Given the description of an element on the screen output the (x, y) to click on. 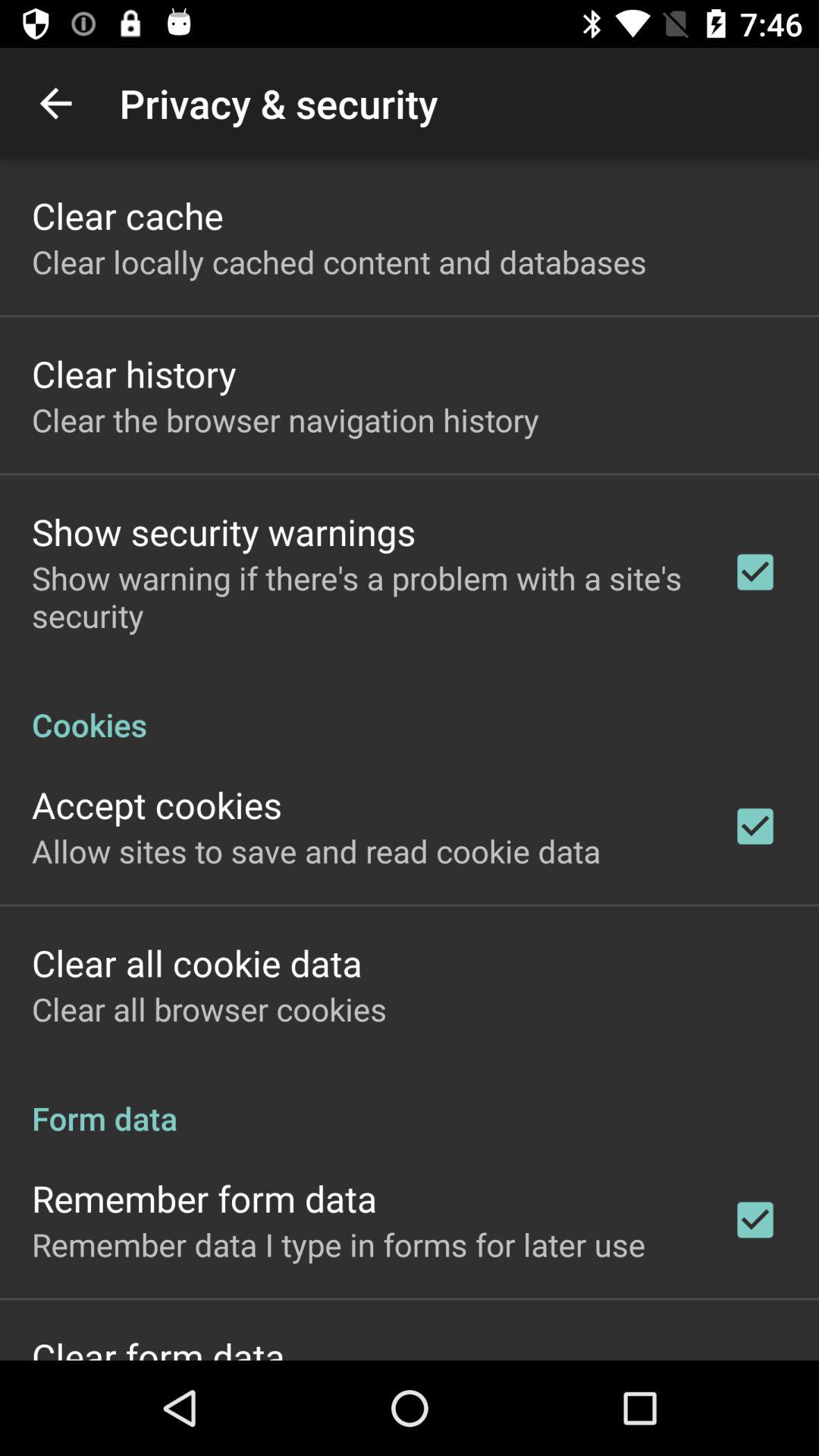
click accept cookies (156, 804)
